Given the description of an element on the screen output the (x, y) to click on. 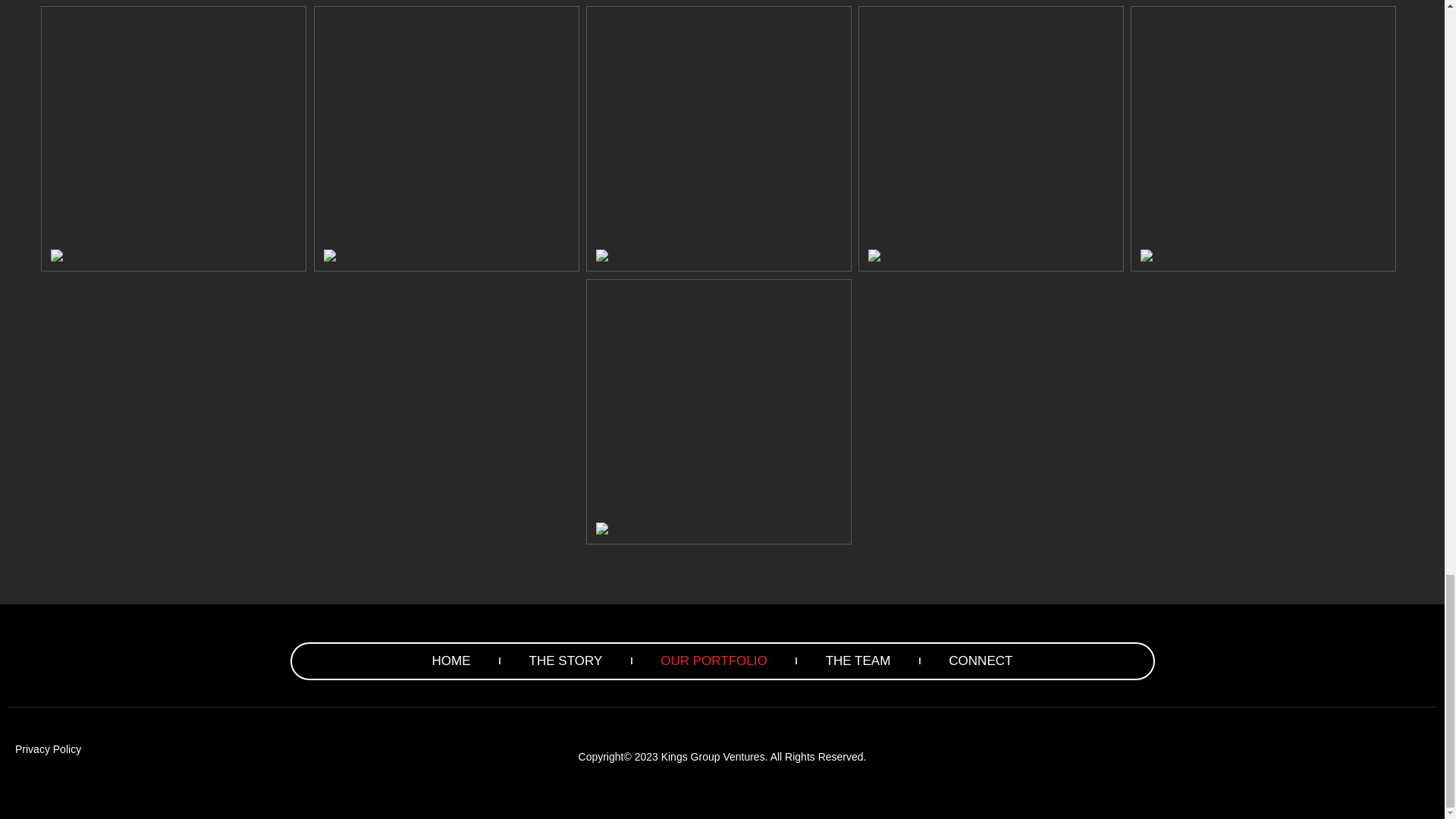
CONNECT (980, 660)
THE STORY (565, 660)
OUR PORTFOLIO (713, 660)
THE TEAM (857, 660)
HOME (451, 660)
